Given the description of an element on the screen output the (x, y) to click on. 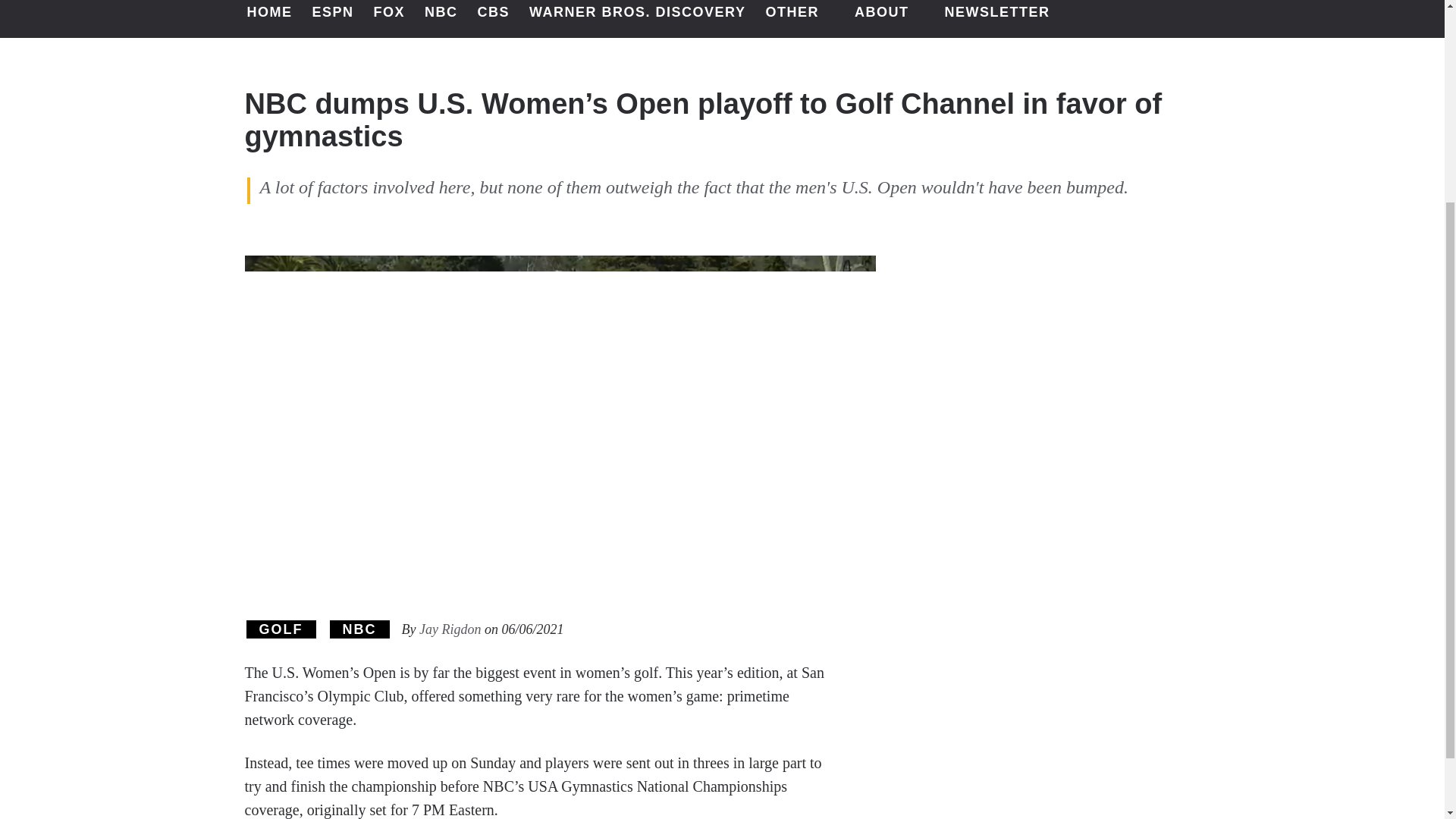
Link to Facebook (1336, 13)
HOME (269, 18)
FOX (390, 18)
CBS (493, 18)
ESPN (332, 18)
ABOUT (889, 18)
OTHER (799, 18)
Link to Instagram (1375, 13)
View all posts in NBC (358, 629)
NEWSLETTER (996, 18)
